Given the description of an element on the screen output the (x, y) to click on. 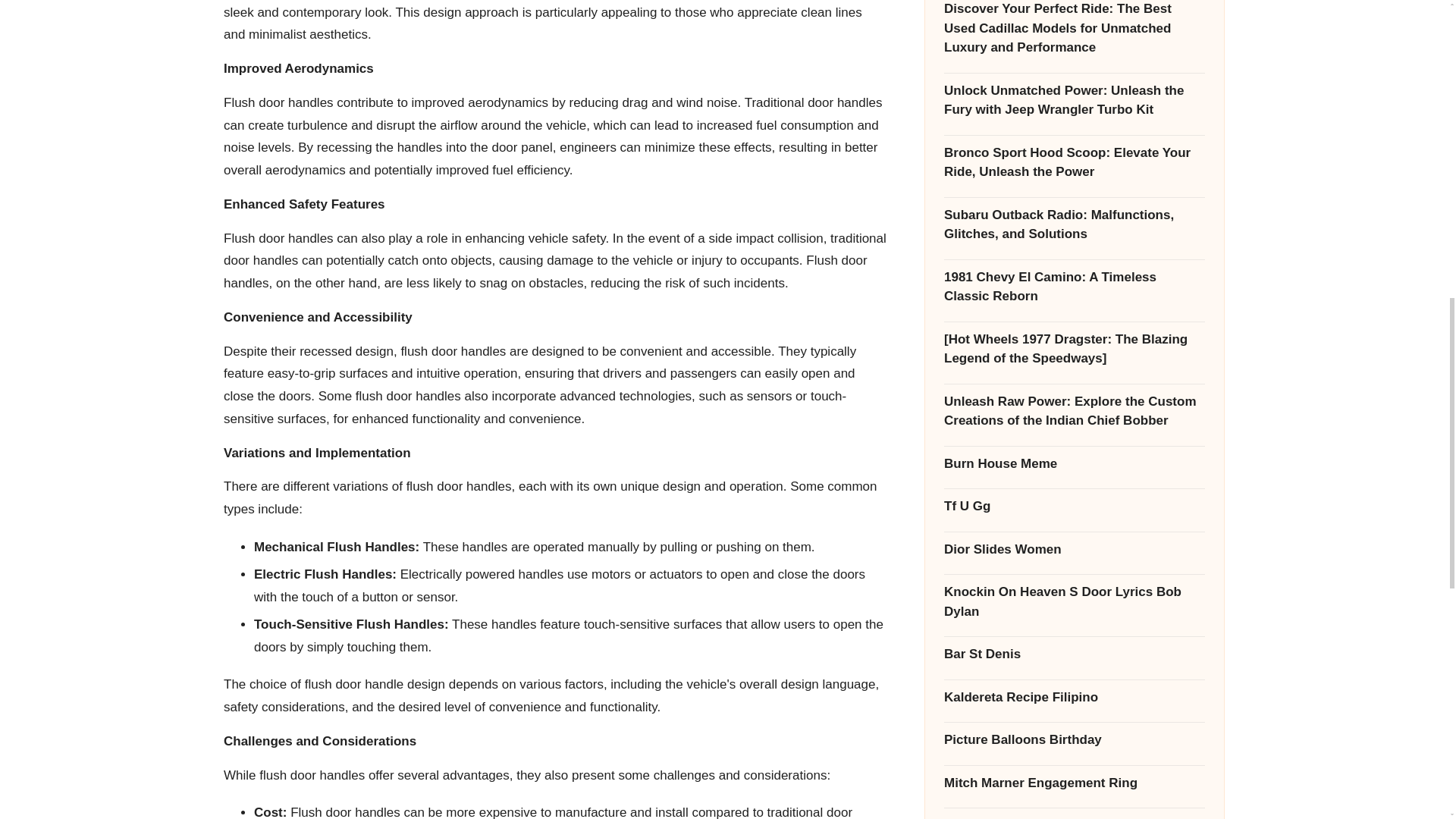
Knockin On Heaven S Door Lyrics Bob Dylan (1074, 175)
Numbers 1 50 Worksheets Pdf (1074, 570)
Bar St Denis (1074, 228)
Picture Balloons Birthday (1074, 313)
Mitch Marner Engagement Ring (1074, 356)
Victoria And Alfred Waterfront Cape Town (1074, 442)
880 Broadway Avenue (1074, 399)
Tf U Gg (1074, 80)
Detroit Red Wings Hats (1074, 656)
Dior Slides Women (1074, 123)
Kaldereta Recipe Filipino (1074, 270)
Red Riding Hood Costume (1074, 528)
Travel Sickness Bracelet (1074, 485)
Guitar String Ring (1074, 613)
